Given the description of an element on the screen output the (x, y) to click on. 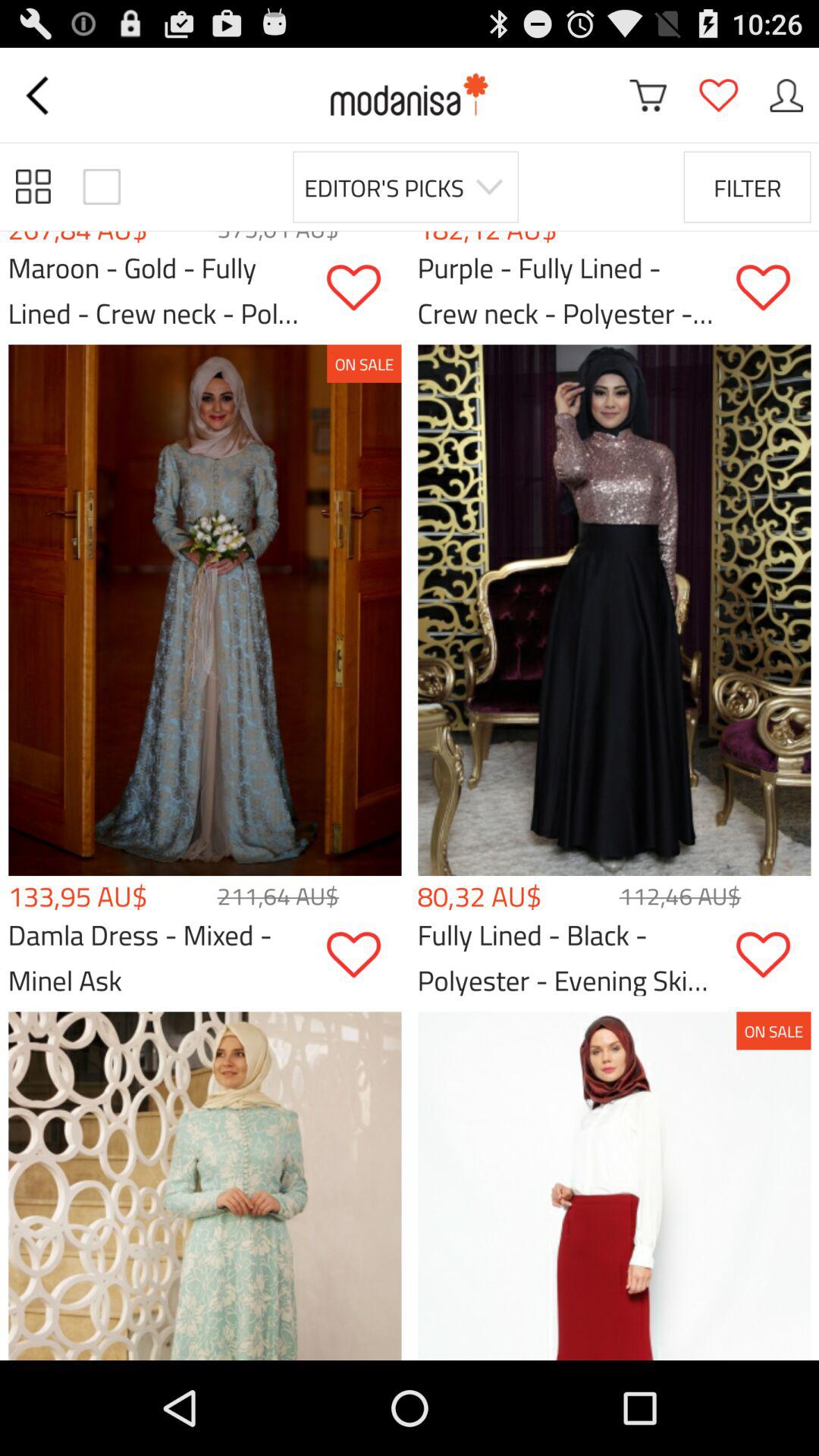
press the filter item (747, 186)
